Given the description of an element on the screen output the (x, y) to click on. 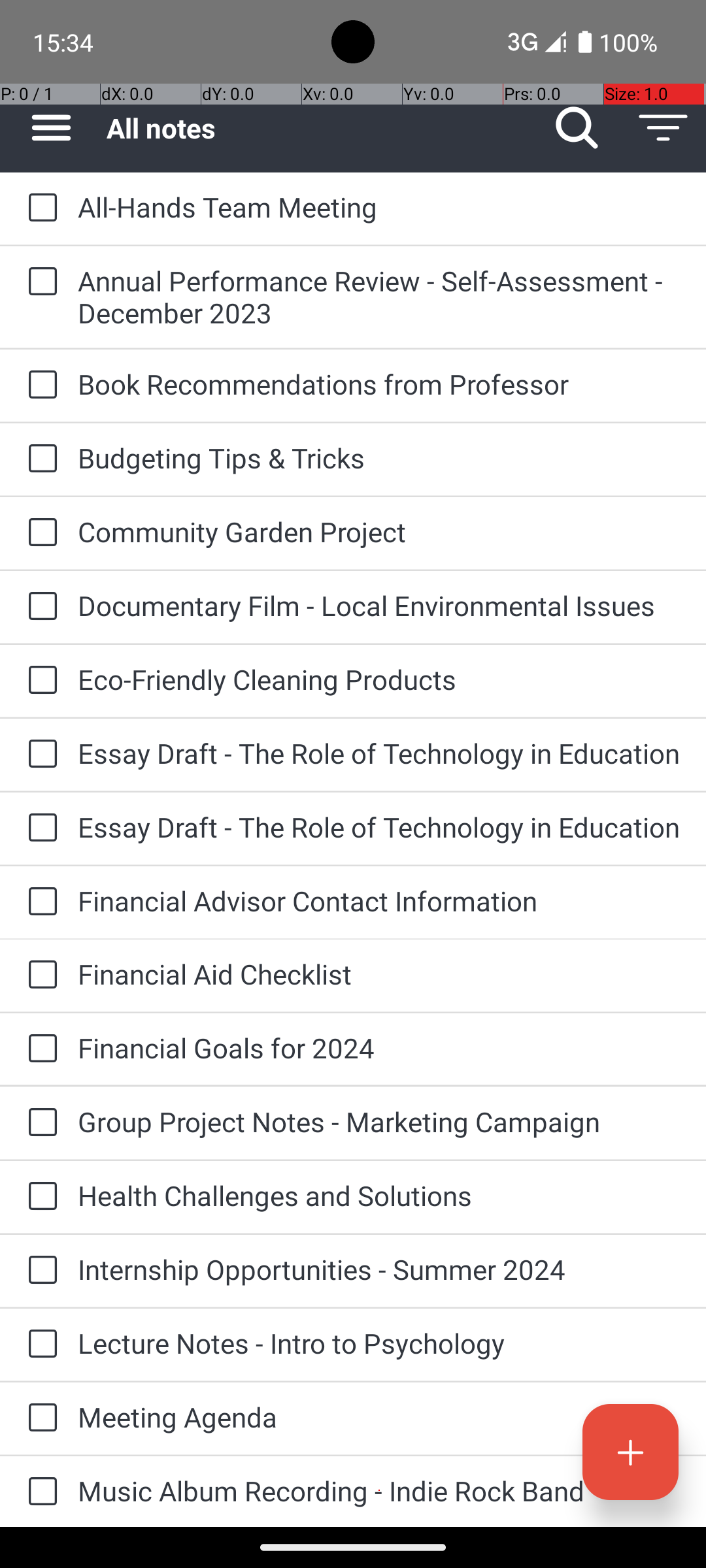
Sidebar Element type: android.widget.Button (44, 127)
All notes Element type: android.widget.TextView (320, 127)
Sort notes by Element type: android.widget.Button (663, 127)
Add new, collapsed Element type: android.widget.Button (630, 1452)
 Element type: android.widget.TextView (51, 127)
 Element type: android.widget.TextView (576, 127)
 Element type: android.widget.TextView (663, 127)
 Element type: android.widget.TextView (630, 1451)
to-do: All-Hands Team Meeting Element type: android.widget.CheckBox (38, 208)
All-Hands Team Meeting Element type: android.widget.TextView (378, 206)
to-do: Annual Performance Review - Self-Assessment - December 2023 Element type: android.widget.CheckBox (38, 282)
Annual Performance Review - Self-Assessment - December 2023 Element type: android.widget.TextView (378, 296)
to-do: Book Recommendations from Professor Element type: android.widget.CheckBox (38, 385)
Book Recommendations from Professor Element type: android.widget.TextView (378, 383)
to-do: Budgeting Tips & Tricks Element type: android.widget.CheckBox (38, 459)
Budgeting Tips & Tricks Element type: android.widget.TextView (378, 457)
to-do: Community Garden Project Element type: android.widget.CheckBox (38, 533)
Community Garden Project Element type: android.widget.TextView (378, 531)
to-do: Documentary Film - Local Environmental Issues Element type: android.widget.CheckBox (38, 606)
Documentary Film - Local Environmental Issues Element type: android.widget.TextView (378, 604)
to-do: Eco-Friendly Cleaning Products Element type: android.widget.CheckBox (38, 680)
Eco-Friendly Cleaning Products Element type: android.widget.TextView (378, 678)
to-do: Essay Draft - The Role of Technology in Education Element type: android.widget.CheckBox (38, 754)
Essay Draft - The Role of Technology in Education Element type: android.widget.TextView (378, 752)
to-do: Financial Advisor Contact Information Element type: android.widget.CheckBox (38, 902)
Financial Advisor Contact Information Element type: android.widget.TextView (378, 900)
to-do: Financial Aid Checklist Element type: android.widget.CheckBox (38, 975)
Financial Aid Checklist Element type: android.widget.TextView (378, 973)
to-do: Financial Goals for 2024 Element type: android.widget.CheckBox (38, 1049)
Financial Goals for 2024 Element type: android.widget.TextView (378, 1047)
to-do: Group Project Notes - Marketing Campaign Element type: android.widget.CheckBox (38, 1123)
Group Project Notes - Marketing Campaign Element type: android.widget.TextView (378, 1121)
to-do: Health Challenges and Solutions Element type: android.widget.CheckBox (38, 1196)
Health Challenges and Solutions Element type: android.widget.TextView (378, 1194)
to-do: Internship Opportunities - Summer 2024 Element type: android.widget.CheckBox (38, 1270)
Internship Opportunities - Summer 2024 Element type: android.widget.TextView (378, 1268)
to-do: Lecture Notes - Intro to Psychology Element type: android.widget.CheckBox (38, 1344)
Lecture Notes - Intro to Psychology Element type: android.widget.TextView (378, 1342)
to-do: Meeting Agenda Element type: android.widget.CheckBox (38, 1418)
Meeting Agenda Element type: android.widget.TextView (378, 1416)
to-do: Music Album Recording - Indie Rock Band Element type: android.widget.CheckBox (38, 1491)
Music Album Recording - Indie Rock Band Element type: android.widget.TextView (378, 1490)
 Element type: android.widget.TextView (42, 208)
